Given the description of an element on the screen output the (x, y) to click on. 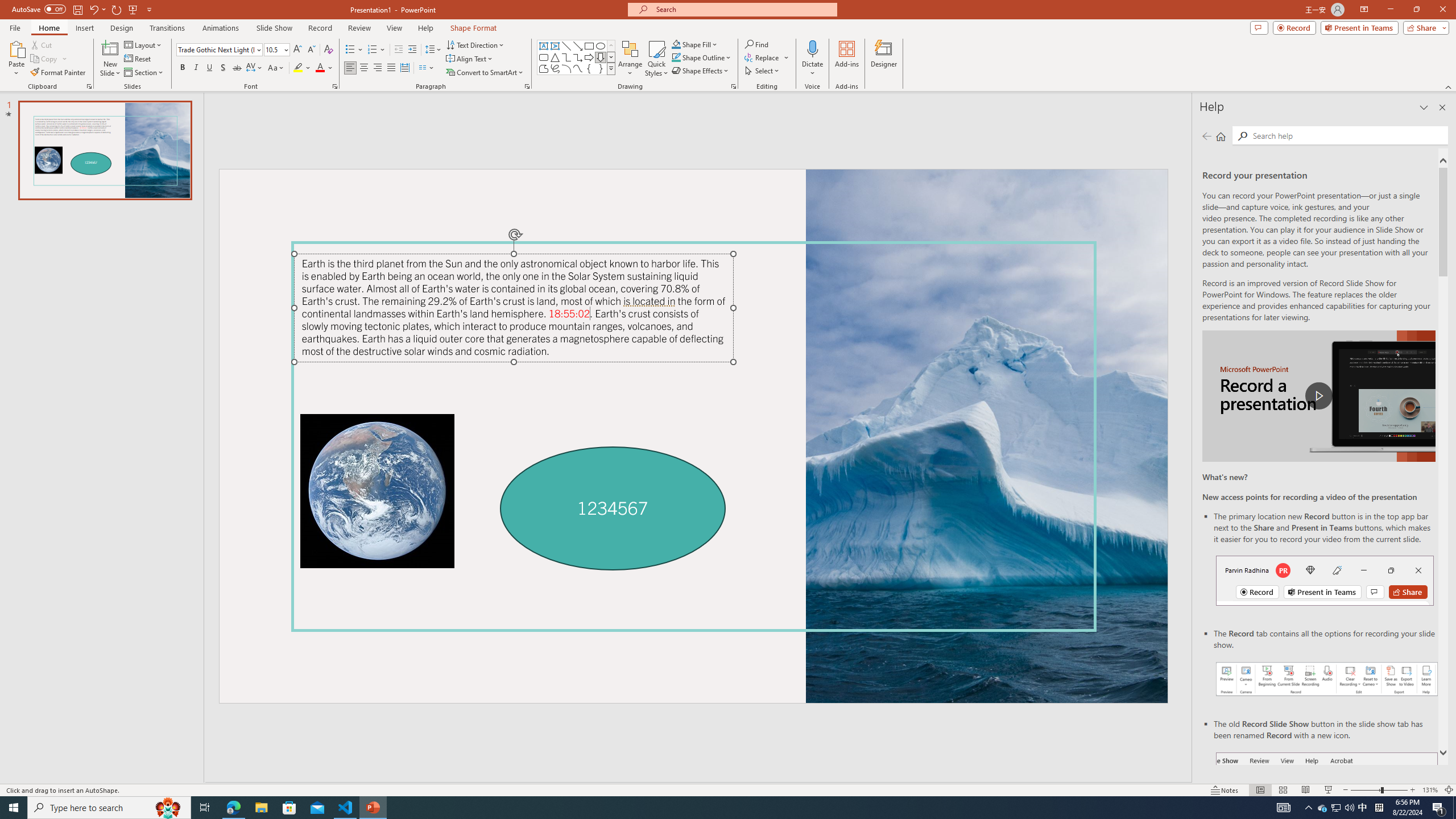
Zoom 131% (1430, 790)
